Given the description of an element on the screen output the (x, y) to click on. 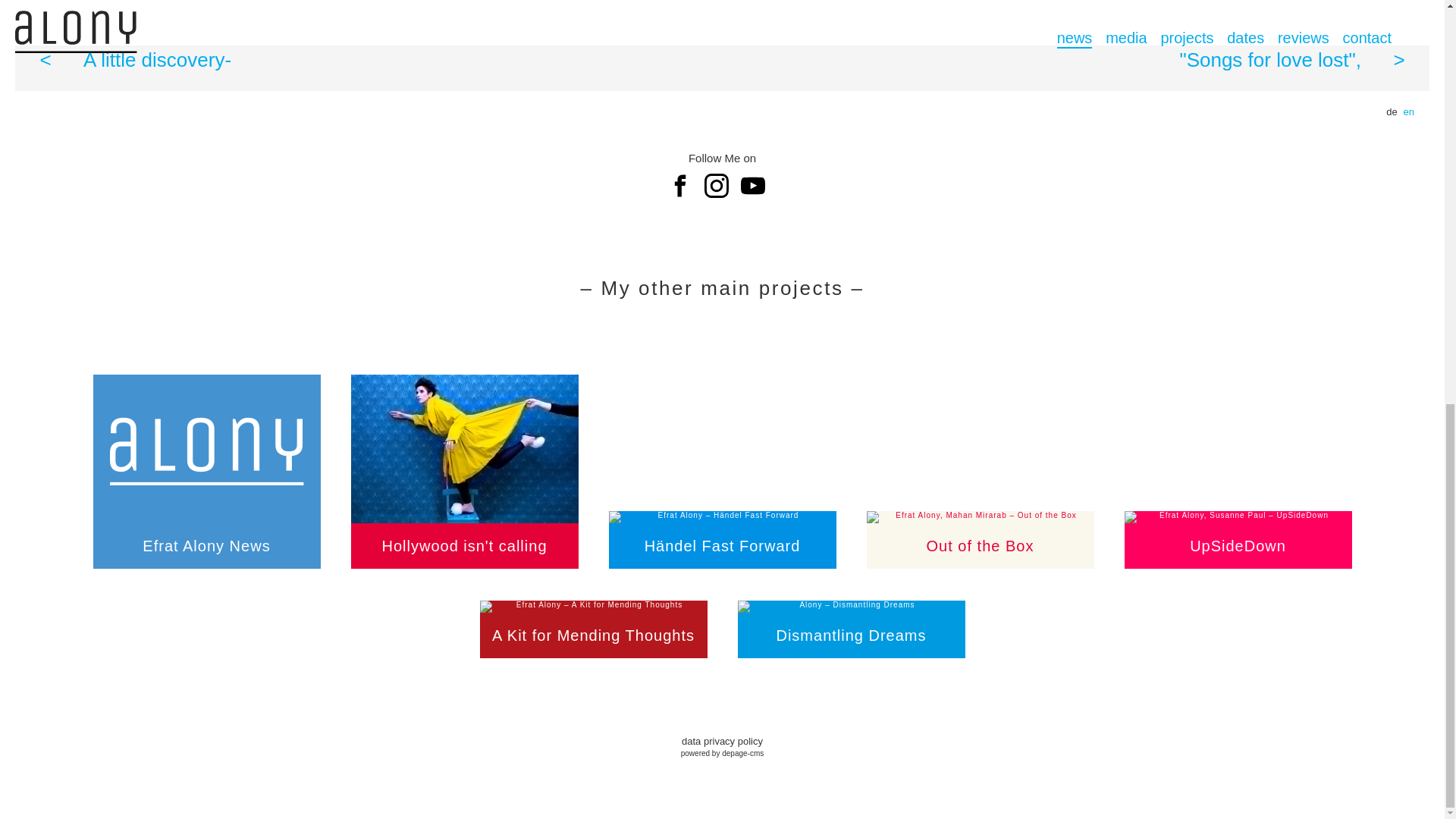
A little discovery- (368, 60)
"Songs for love lost", (1075, 60)
Efrat Alony on facebook (684, 185)
Efrat Alony on instagram (721, 185)
